Given the description of an element on the screen output the (x, y) to click on. 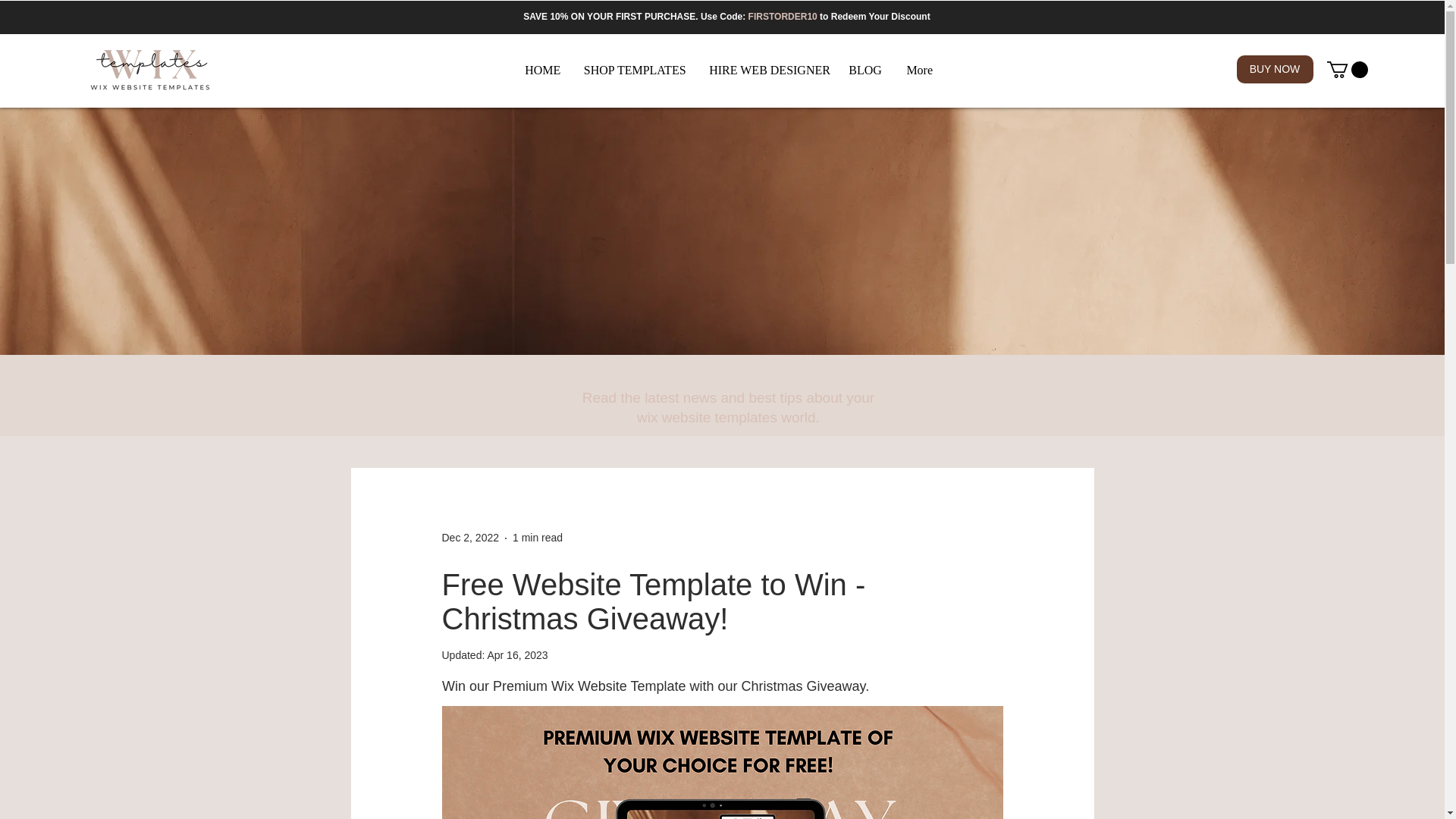
BLOG (864, 69)
SHOP TEMPLATES (634, 69)
Apr 16, 2023 (516, 654)
BUY NOW (1274, 69)
1 min read (537, 537)
HOME (542, 69)
HIRE WEB DESIGNER (767, 69)
Dec 2, 2022 (470, 537)
